Given the description of an element on the screen output the (x, y) to click on. 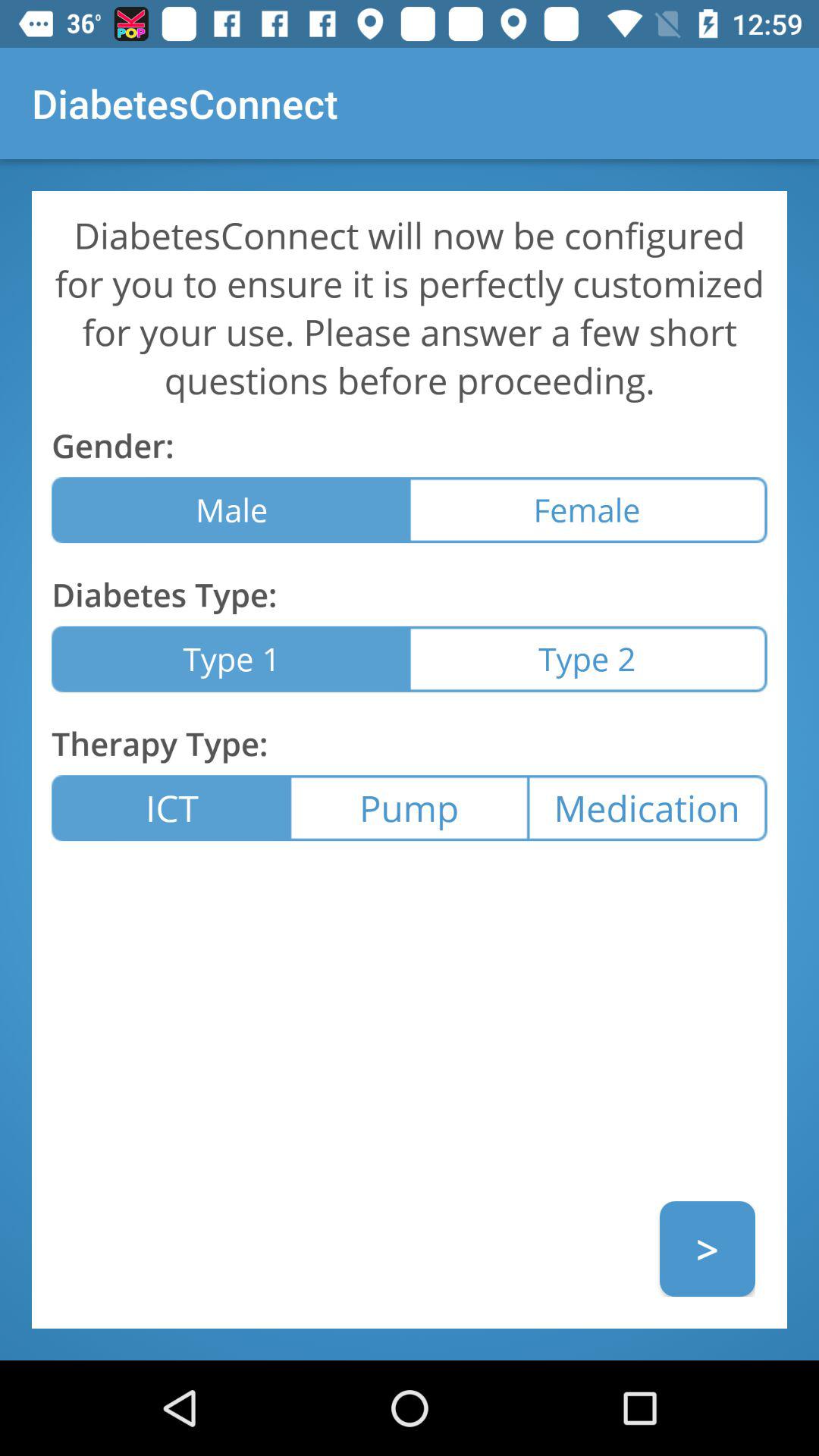
launch icon to the right of type 1 icon (588, 659)
